Given the description of an element on the screen output the (x, y) to click on. 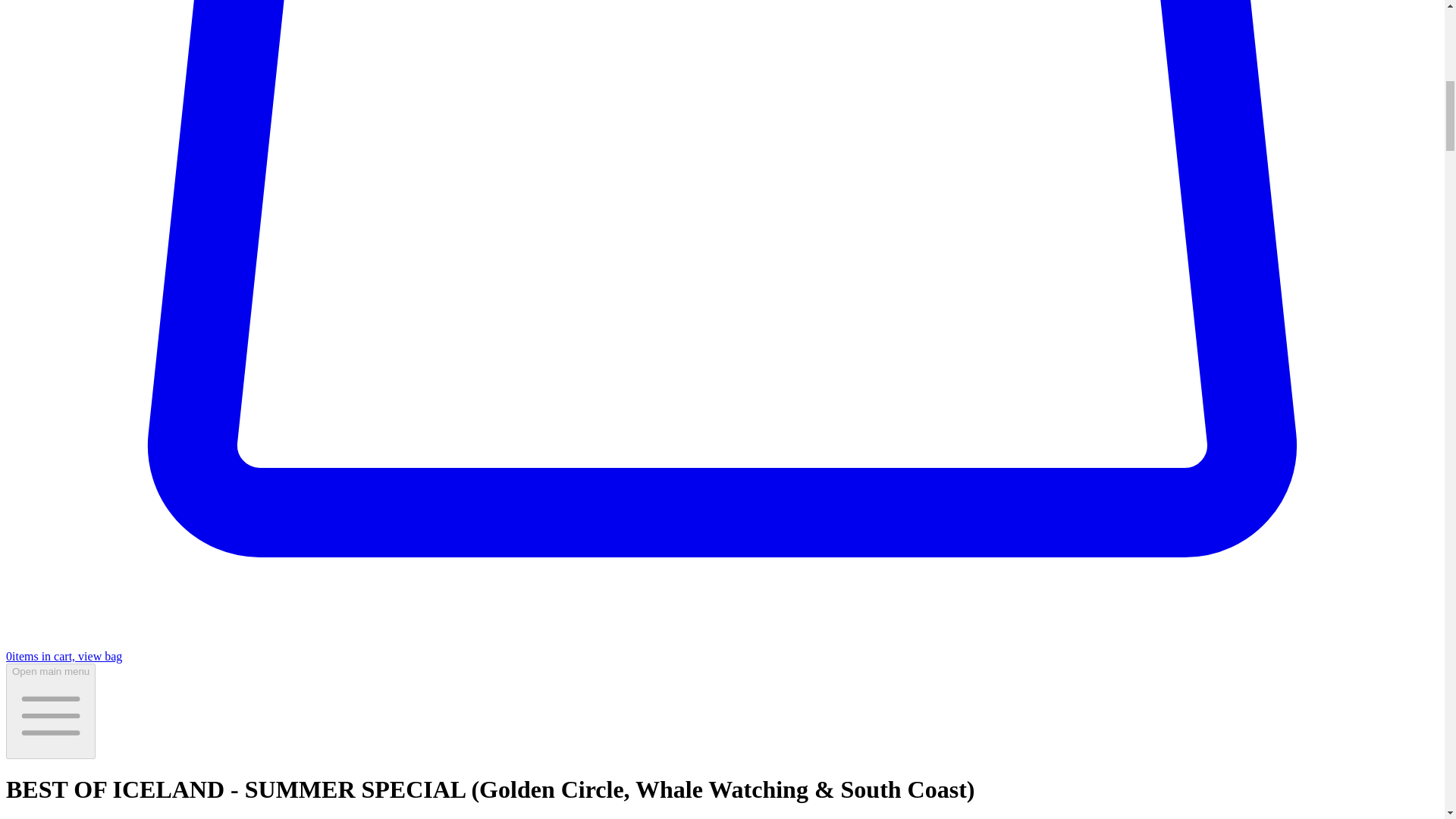
Open main menu (50, 711)
